Given the description of an element on the screen output the (x, y) to click on. 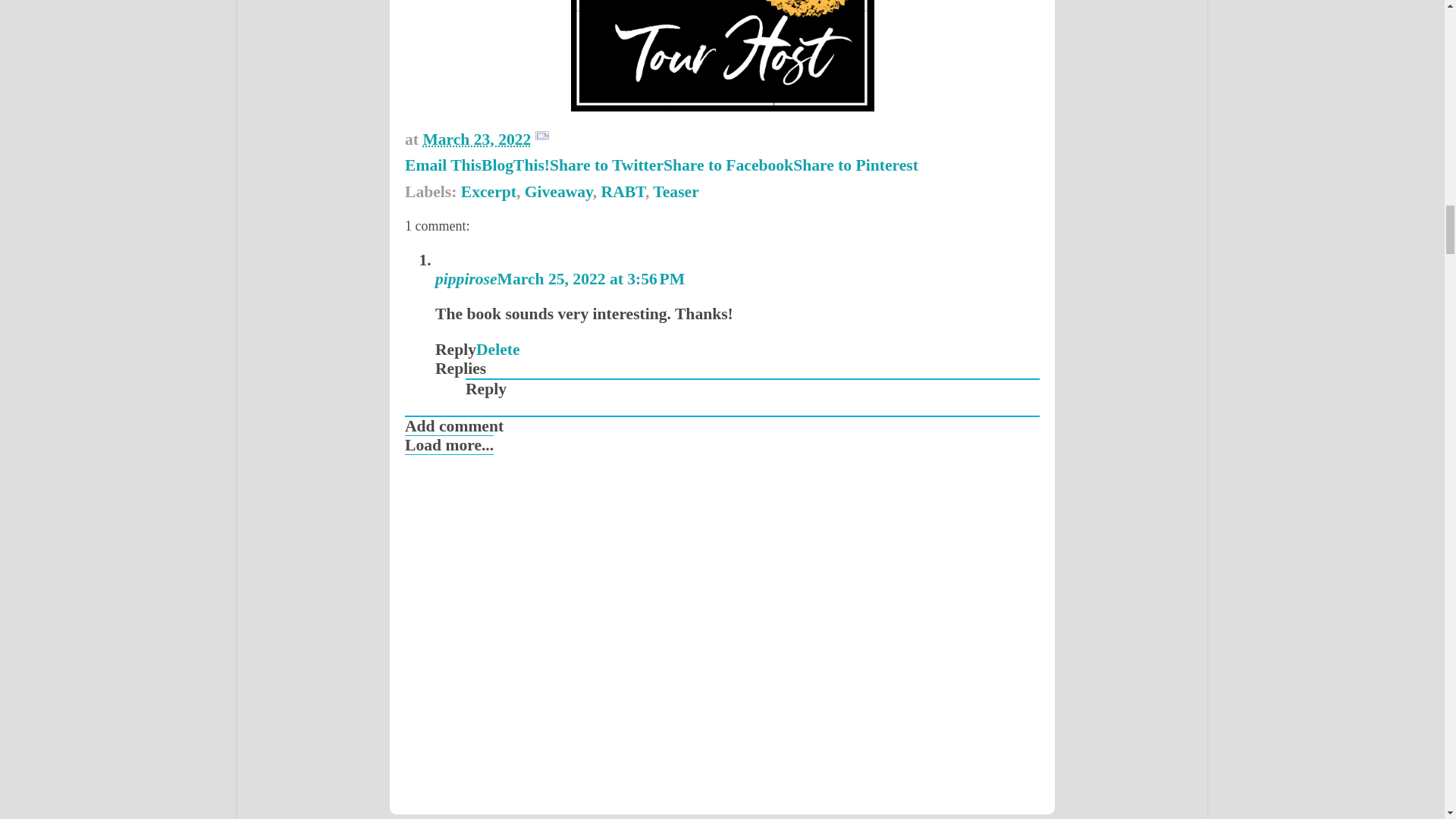
Reply (485, 389)
Giveaway (558, 191)
Share to Pinterest (855, 165)
Share to Twitter (606, 165)
RABT (623, 191)
Share to Twitter (606, 165)
Share to Facebook (728, 165)
March 23, 2022 (476, 139)
Excerpt (488, 191)
Share to Facebook (728, 165)
Email This (442, 165)
permanent link (476, 139)
pippirose (466, 279)
Share to Pinterest (855, 165)
